Given the description of an element on the screen output the (x, y) to click on. 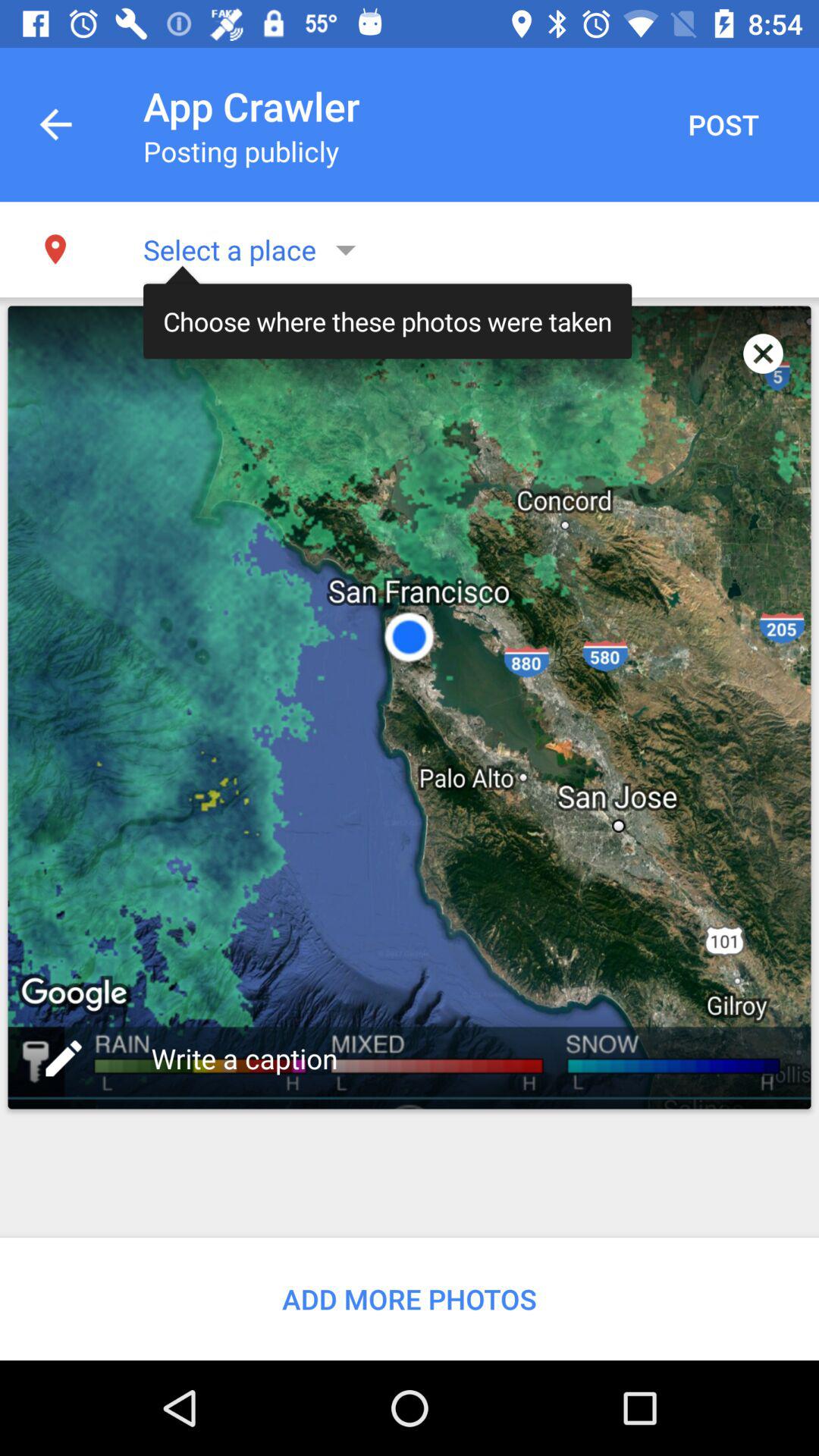
launch the icon next to the choose where these icon (763, 353)
